Given the description of an element on the screen output the (x, y) to click on. 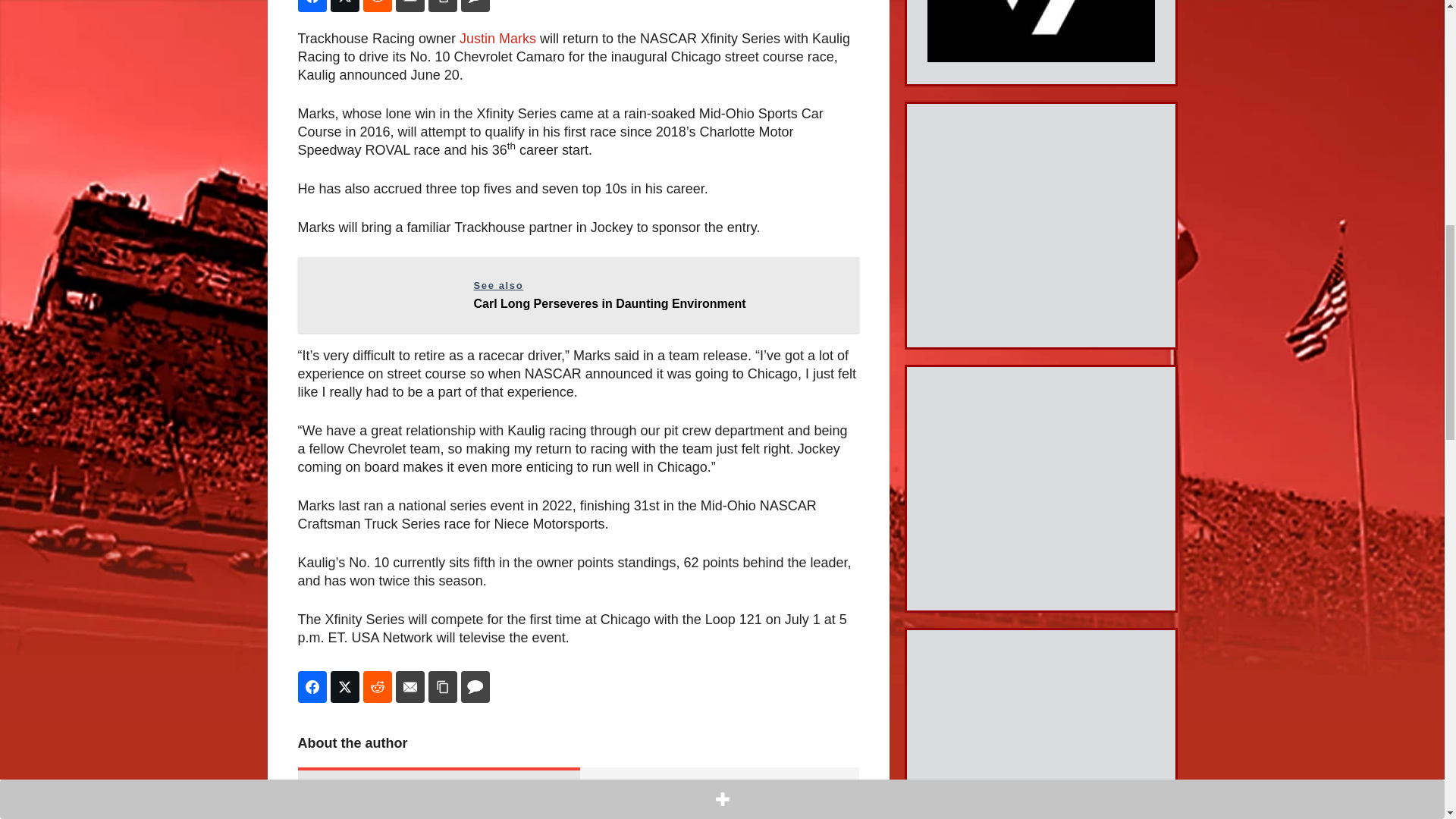
Share on Comments (475, 6)
Share on Copy Link (442, 686)
Share on Facebook (578, 294)
Share on Email (311, 686)
Justin Marks (410, 686)
Share on Reddit (497, 38)
Share on Comments (376, 6)
Share on Copy Link (475, 686)
Share on Reddit (442, 6)
